Given the description of an element on the screen output the (x, y) to click on. 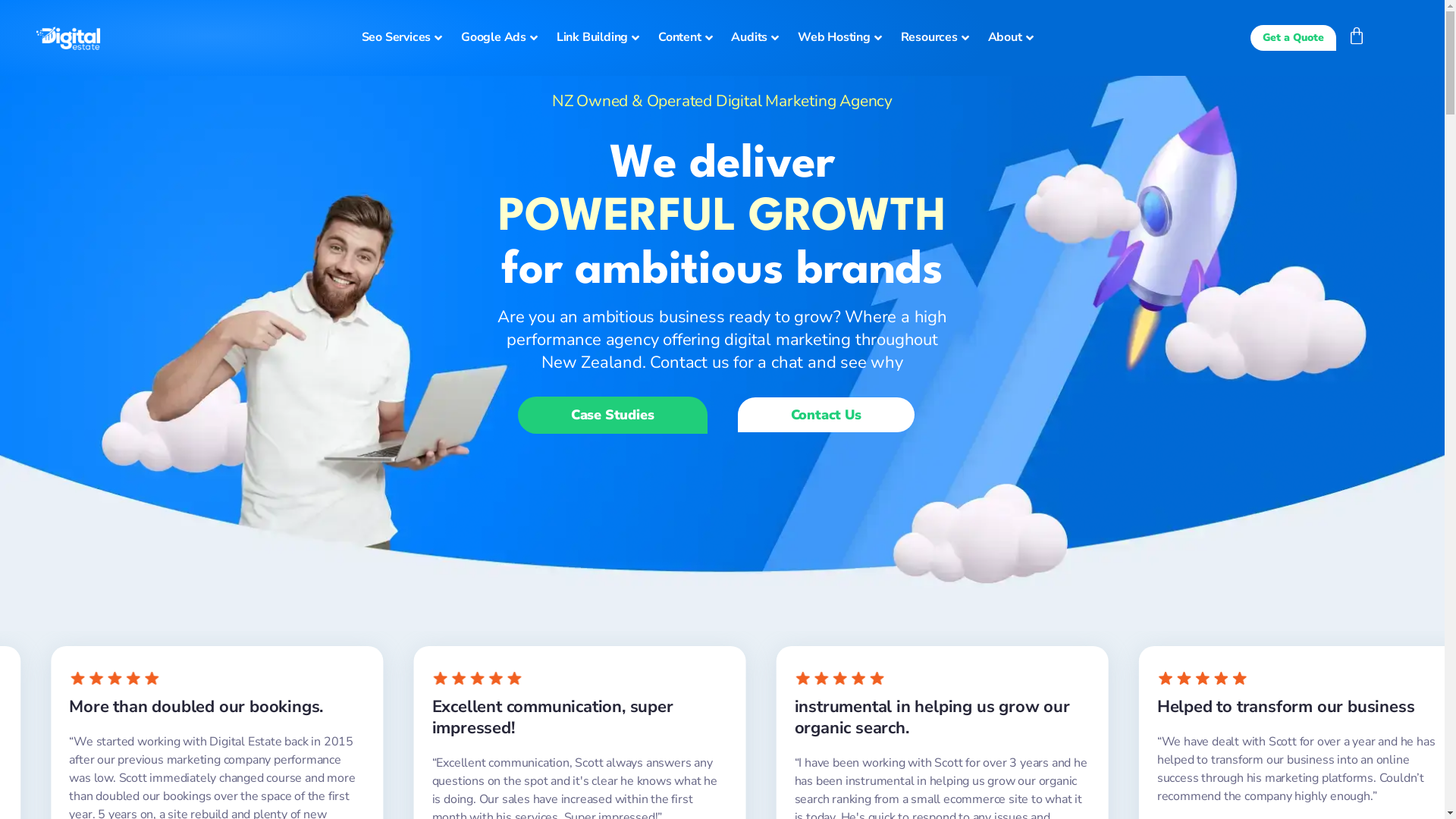
Web Hosting Element type: text (841, 37)
About Element type: text (1012, 37)
Google Ads Element type: text (501, 37)
Link Building Element type: text (599, 37)
Resources Element type: text (936, 37)
Get a Quote Element type: text (1293, 37)
Case Studies Element type: text (612, 414)
Contact Us Element type: text (825, 414)
Seo Services Element type: text (403, 37)
Content Element type: text (686, 37)
Audits Element type: text (756, 37)
